Given the description of an element on the screen output the (x, y) to click on. 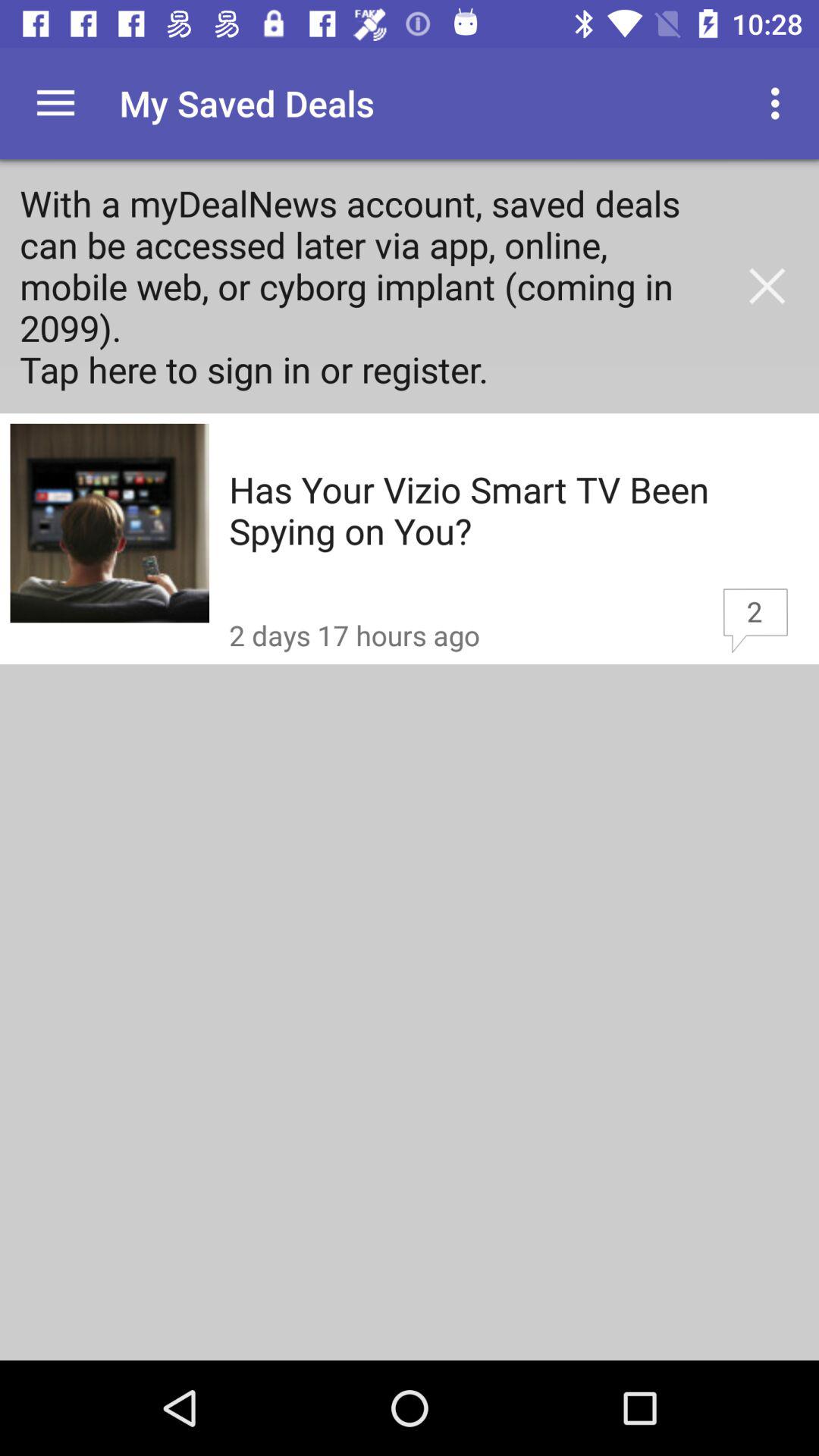
exit page (767, 285)
